Given the description of an element on the screen output the (x, y) to click on. 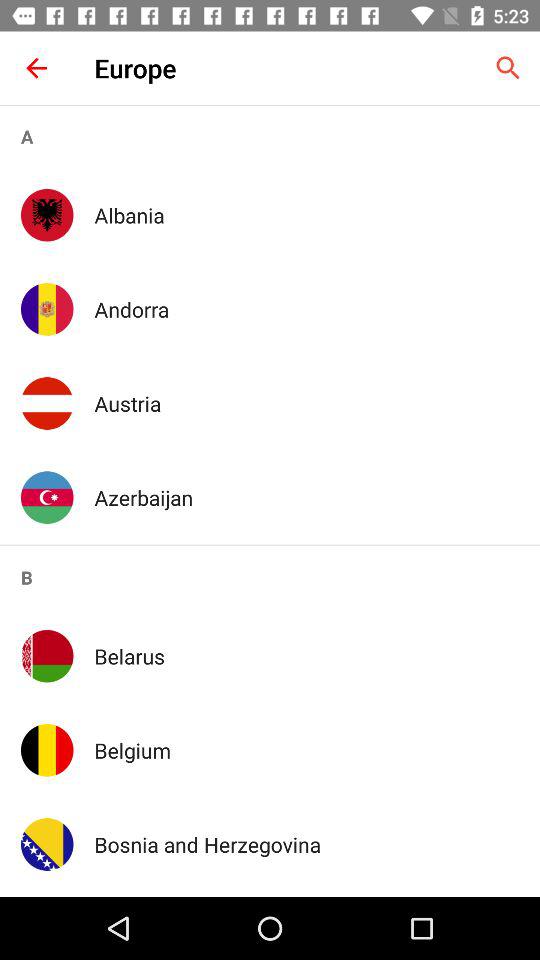
turn on the app above belgium app (306, 655)
